Given the description of an element on the screen output the (x, y) to click on. 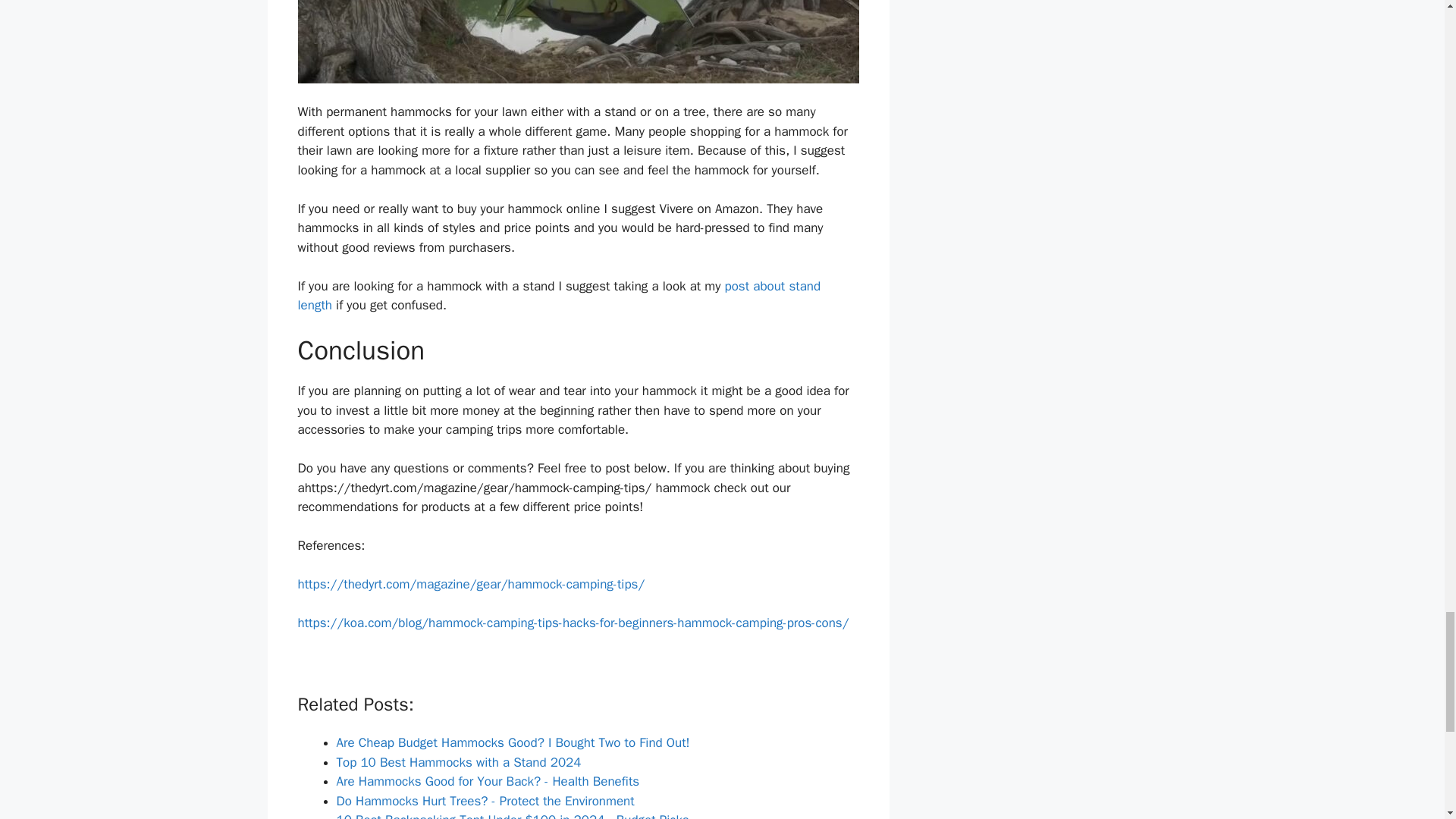
Top 10 Best Hammocks with a Stand 2024 (458, 762)
Are Cheap Budget Hammocks Good? I Bought Two to Find Out! (513, 742)
Do Hammocks Hurt Trees? - Protect the Environment (485, 801)
Are Hammocks Good for Your Back? - Health Benefits (488, 781)
post about stand length (559, 295)
